Given the description of an element on the screen output the (x, y) to click on. 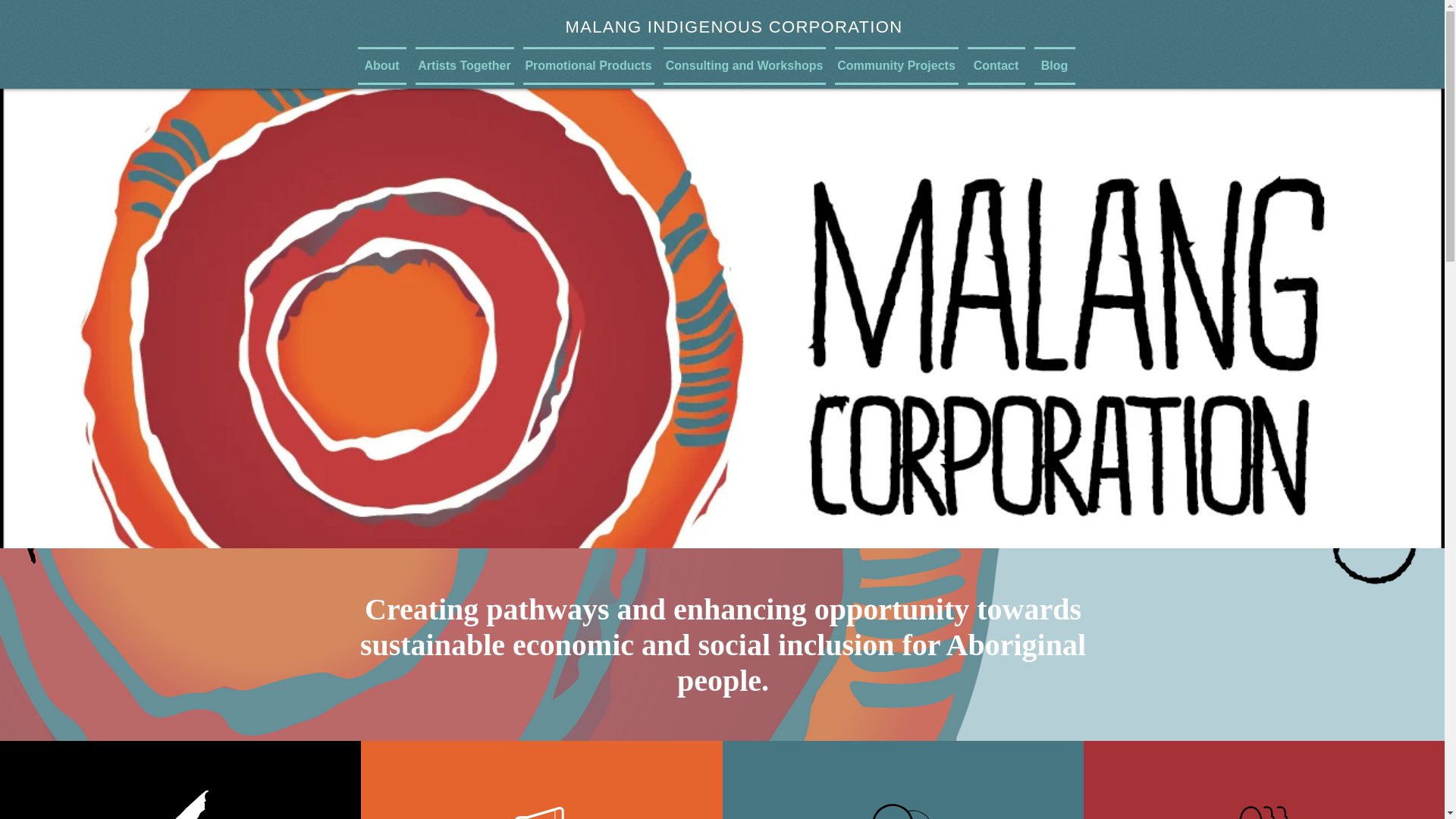
Consulting and Workshops (743, 65)
Promotional Products (588, 65)
Artists Together (464, 65)
MALANG INDIGENOUS CORPORATION (734, 26)
Community Projects (895, 65)
Contact (995, 65)
Blog (1052, 65)
About (384, 65)
